Given the description of an element on the screen output the (x, y) to click on. 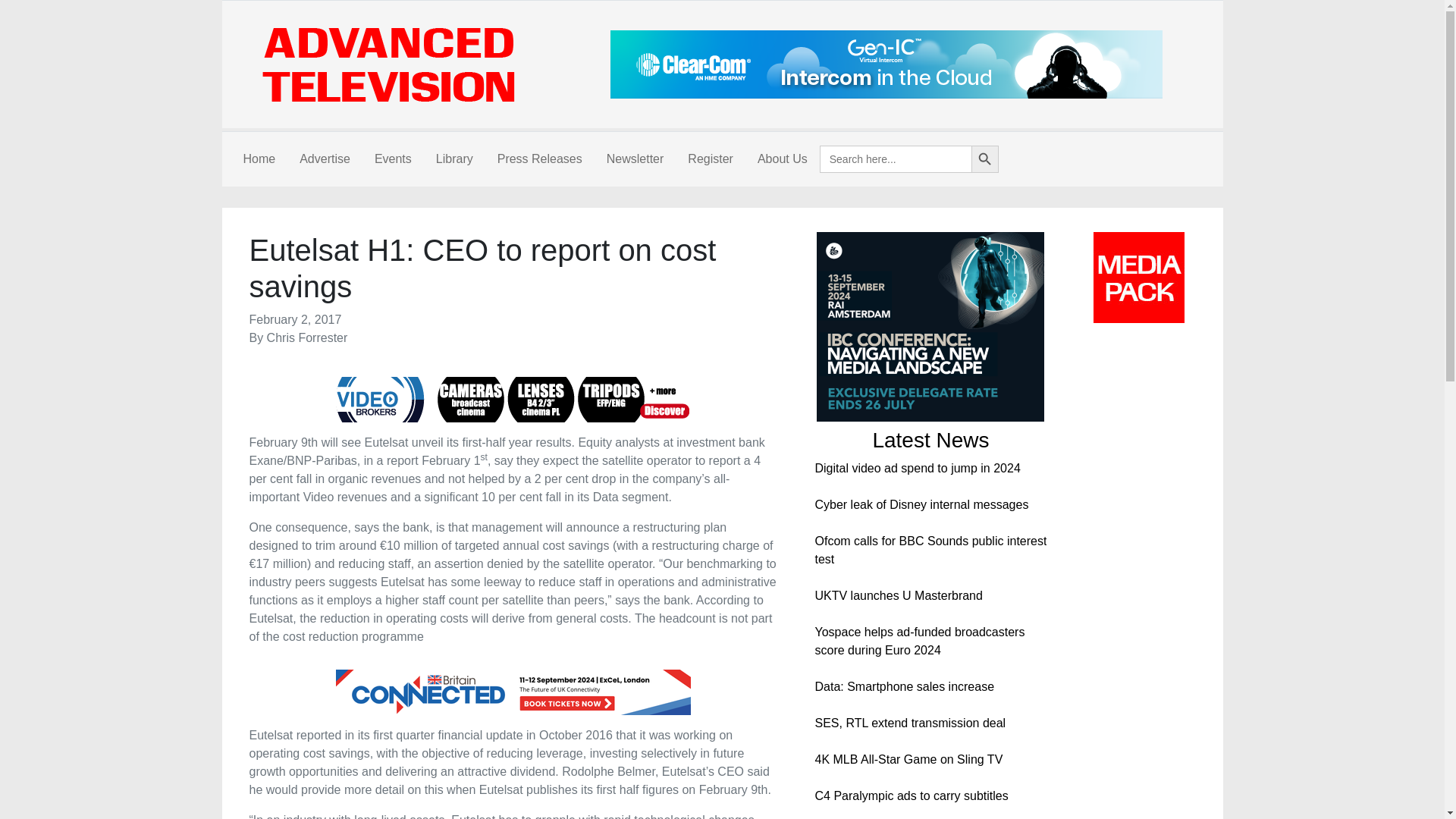
Advertise (324, 158)
C4 Paralympic ads to carry subtitles (910, 795)
Newsletter (635, 158)
Register (710, 158)
Search Button (984, 158)
4K MLB All-Star Game on Sling TV (908, 758)
Home (258, 158)
Ofcom calls for BBC Sounds public interest test (929, 549)
Yospace helps ad-funded broadcasters score during Euro 2024 (919, 640)
About Us (782, 158)
Events (392, 158)
UKTV launches U Masterbrand (897, 594)
Data: Smartphone sales increase (903, 686)
Library (453, 158)
Press Releases (539, 158)
